Given the description of an element on the screen output the (x, y) to click on. 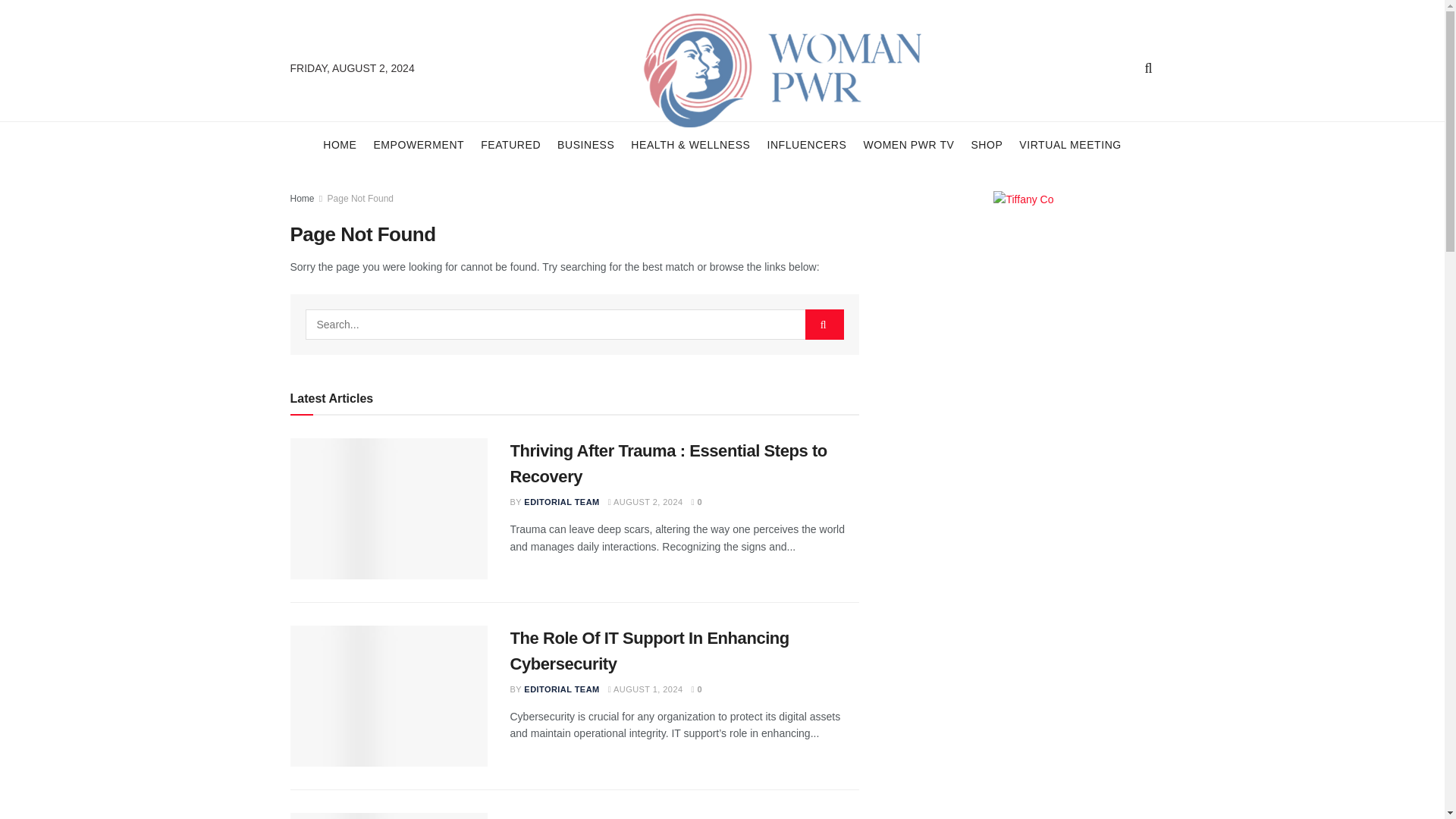
0 (697, 501)
BUSINESS (585, 144)
VIRTUAL MEETING (1070, 144)
Thriving After Trauma : Essential Steps to Recovery (668, 463)
Home (301, 198)
Page Not Found (360, 198)
The Role Of IT Support In Enhancing Cybersecurity (649, 650)
INFLUENCERS (806, 144)
AUGUST 2, 2024 (645, 501)
FEATURED (510, 144)
